Given the description of an element on the screen output the (x, y) to click on. 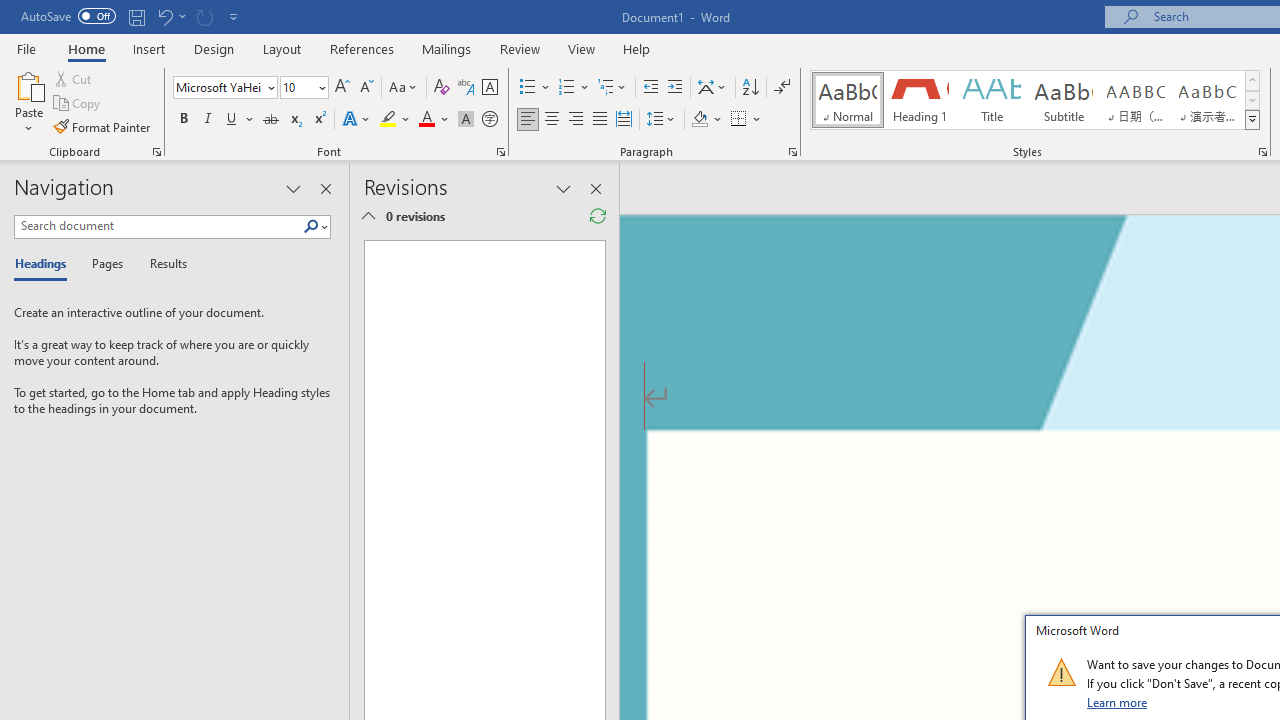
Center (552, 119)
Subtitle (1063, 100)
Paste (28, 84)
Text Highlight Color Yellow (388, 119)
Shading RGB(0, 0, 0) (699, 119)
Can't Repeat (204, 15)
